Given the description of an element on the screen output the (x, y) to click on. 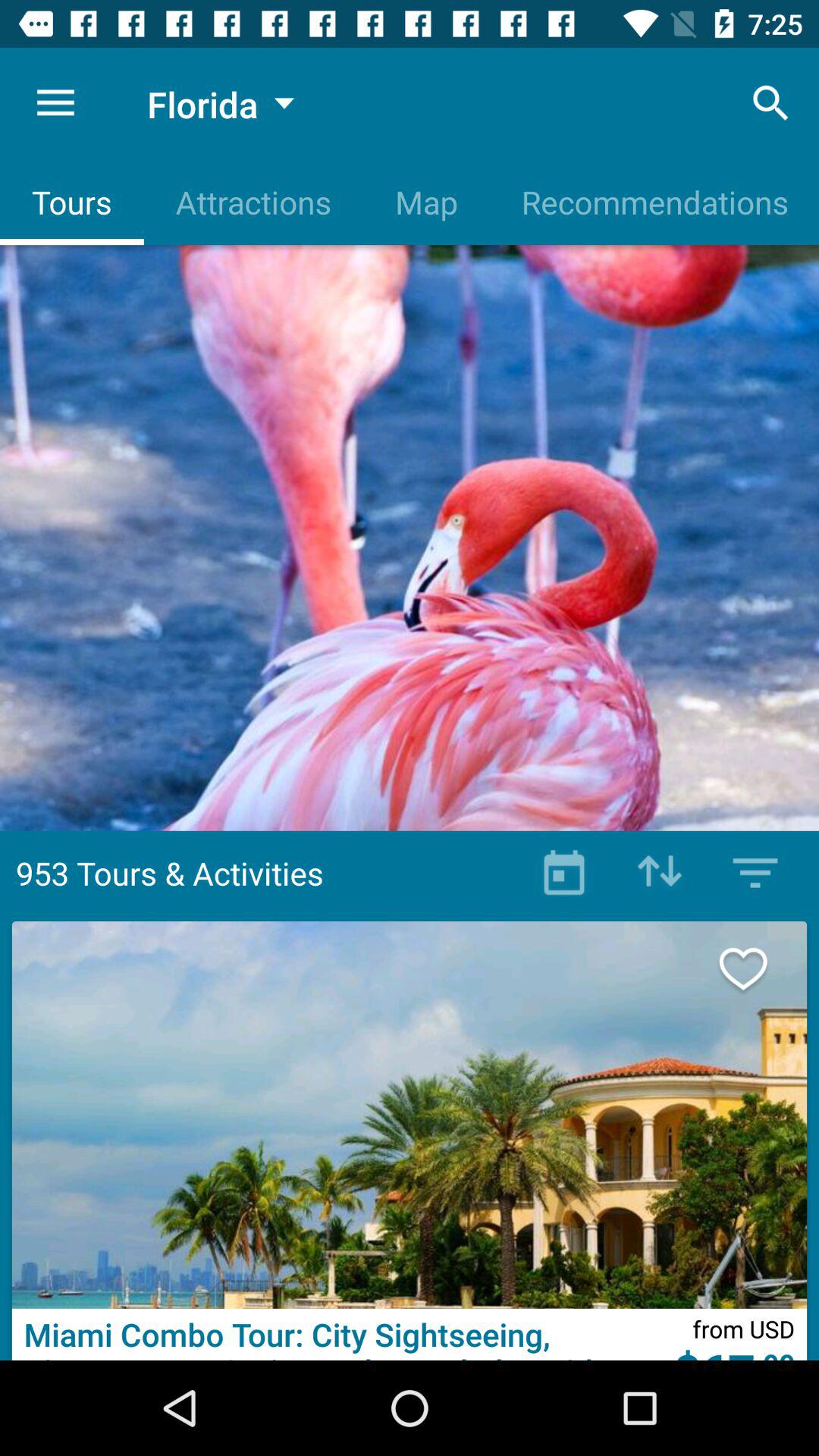
show the calendar (564, 872)
